Given the description of an element on the screen output the (x, y) to click on. 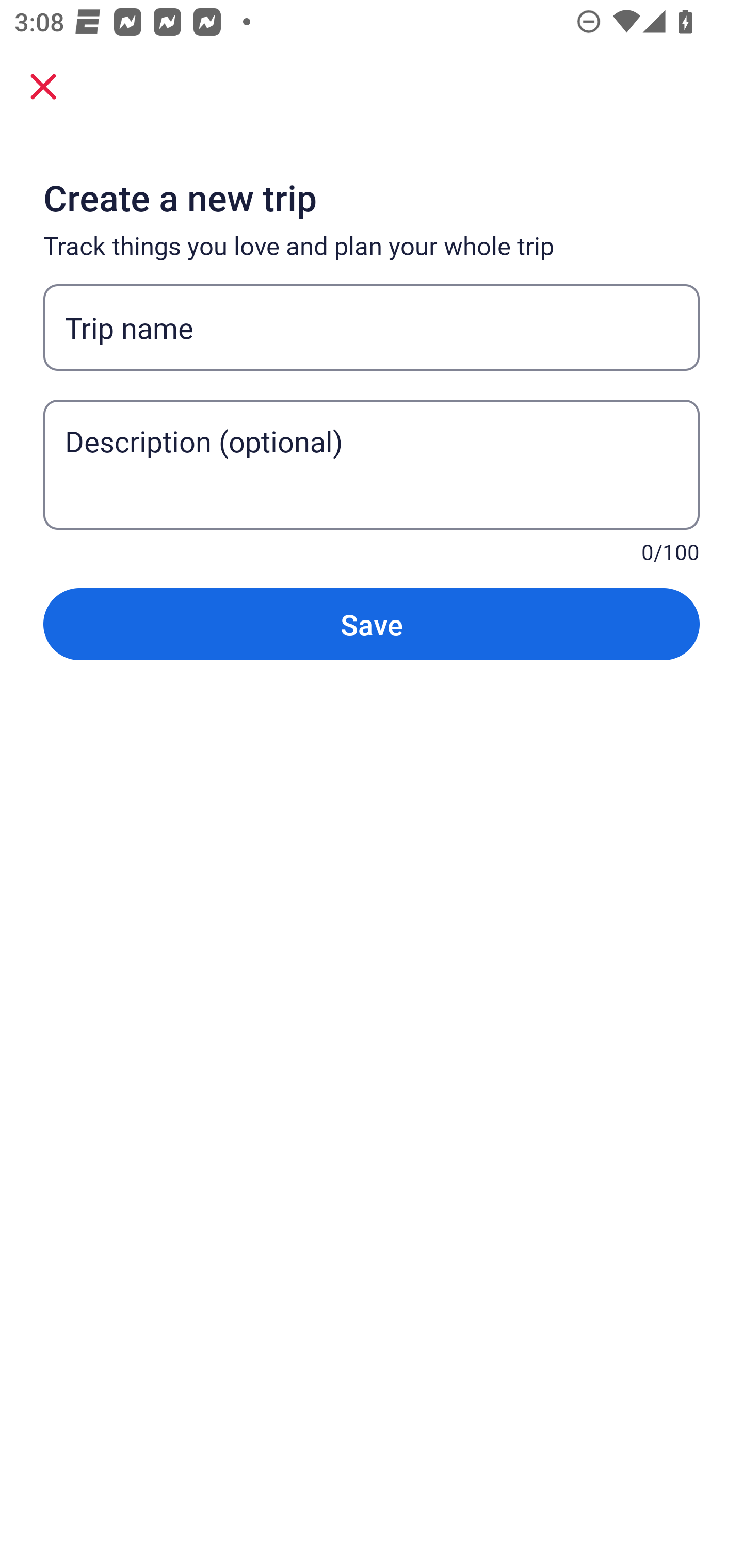
Close (43, 86)
Trip name (371, 327)
Save Button Save (371, 624)
